Given the description of an element on the screen output the (x, y) to click on. 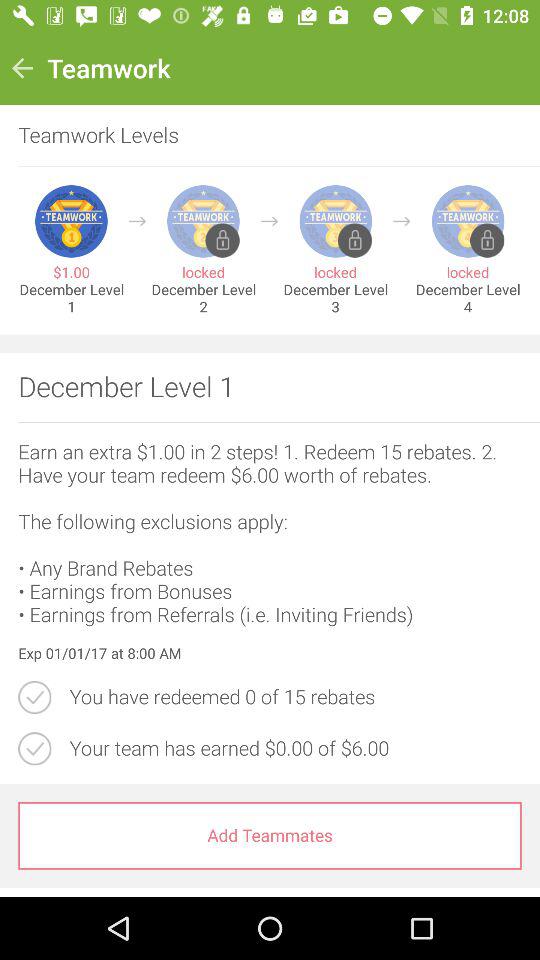
turn on icon to the left of teamwork item (22, 67)
